Given the description of an element on the screen output the (x, y) to click on. 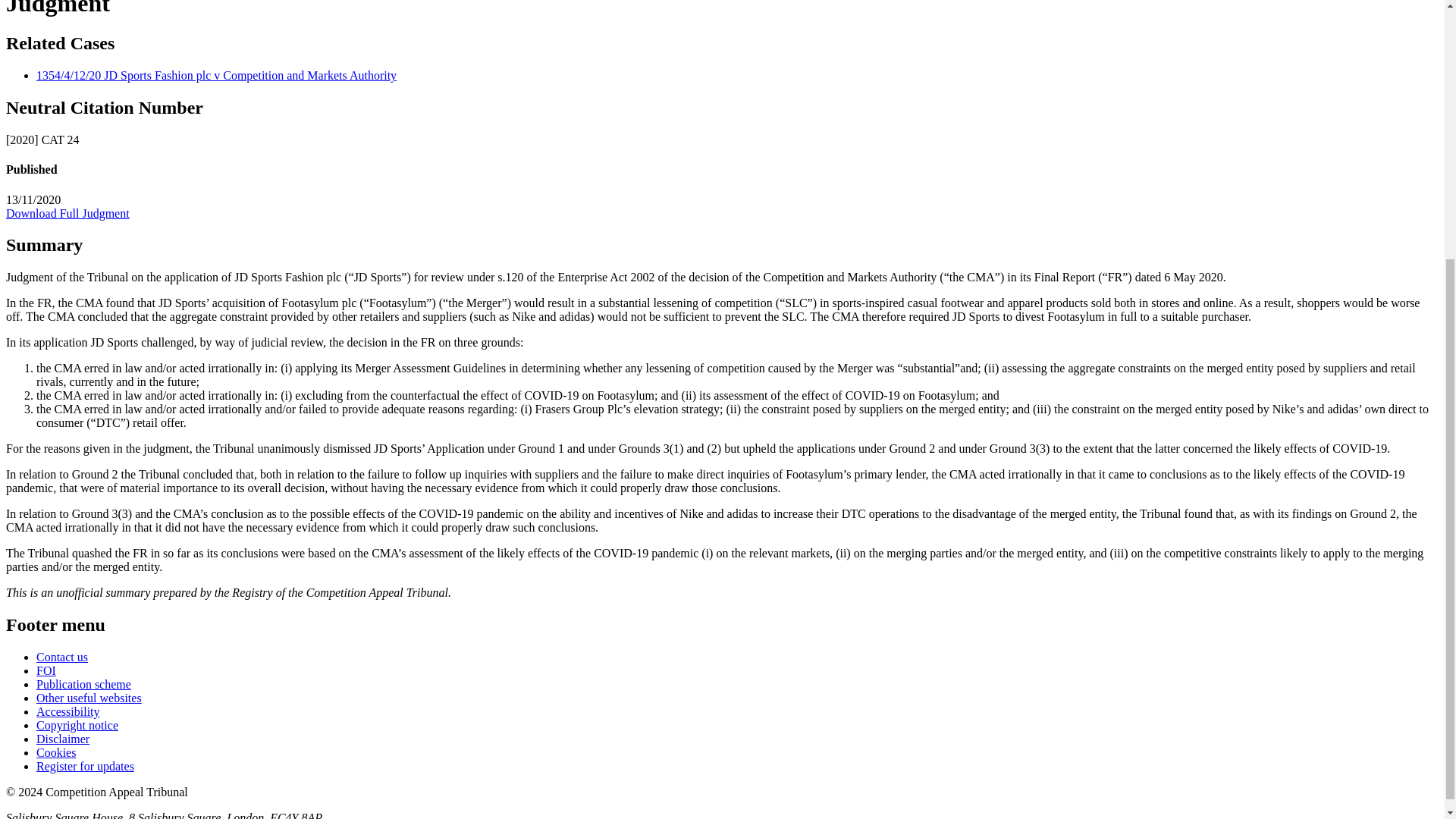
Accessibility (68, 711)
Other useful websites (88, 697)
Copyright notice (76, 725)
Cookies (55, 752)
Register for updates (84, 766)
FOI (46, 670)
Download Full Judgment (67, 213)
Publication scheme (83, 684)
Disclaimer (62, 738)
Contact us (61, 656)
